Given the description of an element on the screen output the (x, y) to click on. 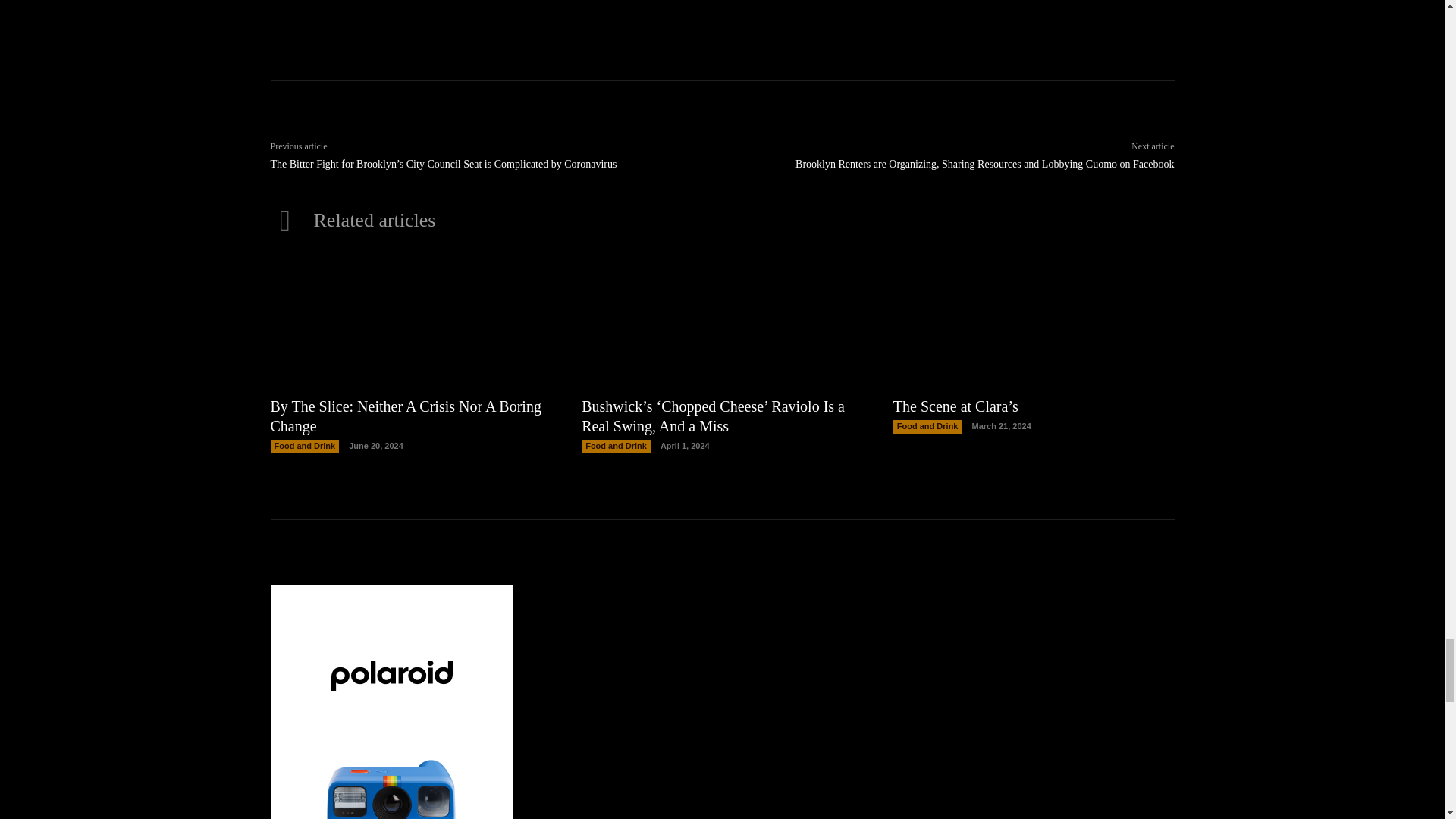
Matt Fink (459, 9)
